Given the description of an element on the screen output the (x, y) to click on. 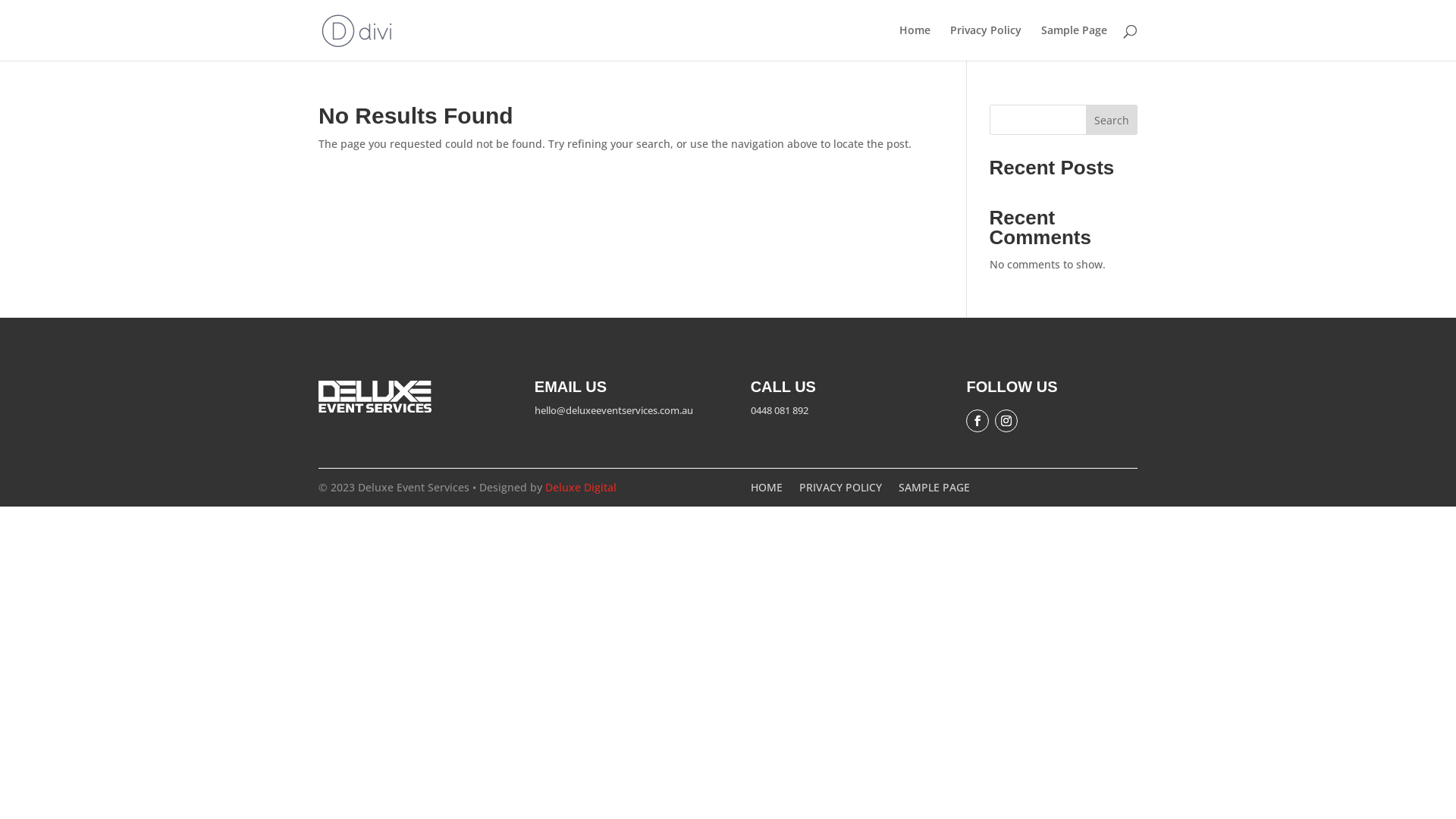
hello@deluxeeventservices.com.au Element type: text (613, 410)
Follow on Instagram Element type: hover (1005, 420)
HOME Element type: text (766, 490)
Privacy Policy Element type: text (985, 42)
Home Element type: text (914, 42)
Follow on Facebook Element type: hover (977, 420)
PRIVACY POLICY Element type: text (840, 490)
DELUXE_ES_REV Element type: hover (374, 396)
Search Element type: text (1111, 119)
Deluxe Digital Element type: text (580, 487)
0448 081 892 Element type: text (779, 410)
SAMPLE PAGE Element type: text (933, 490)
Sample Page Element type: text (1074, 42)
